Given the description of an element on the screen output the (x, y) to click on. 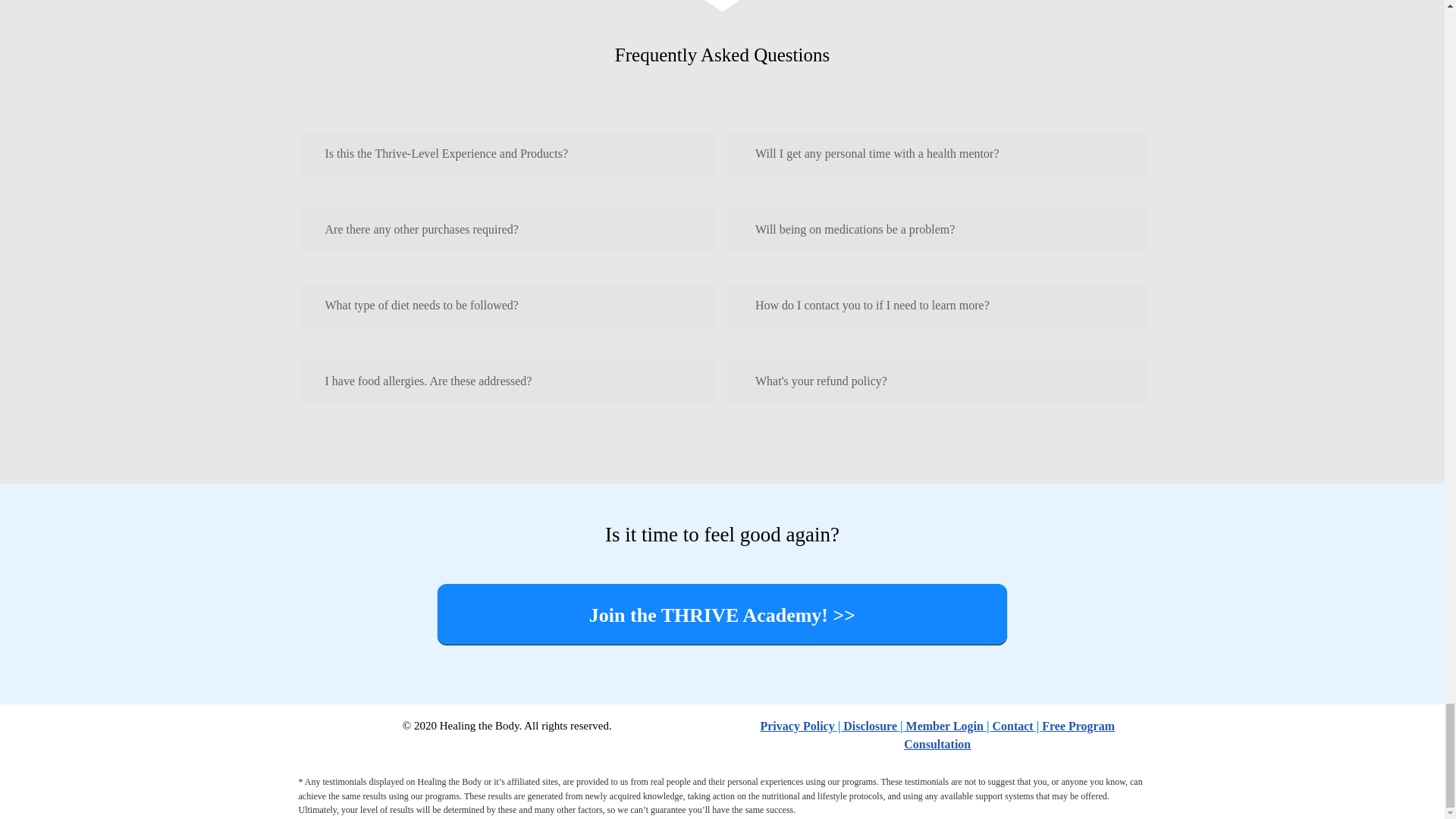
Privacy Policy (797, 725)
Disclosure (869, 725)
Contact (1011, 725)
Free Program Consultation (1009, 735)
Member Login (944, 725)
